Given the description of an element on the screen output the (x, y) to click on. 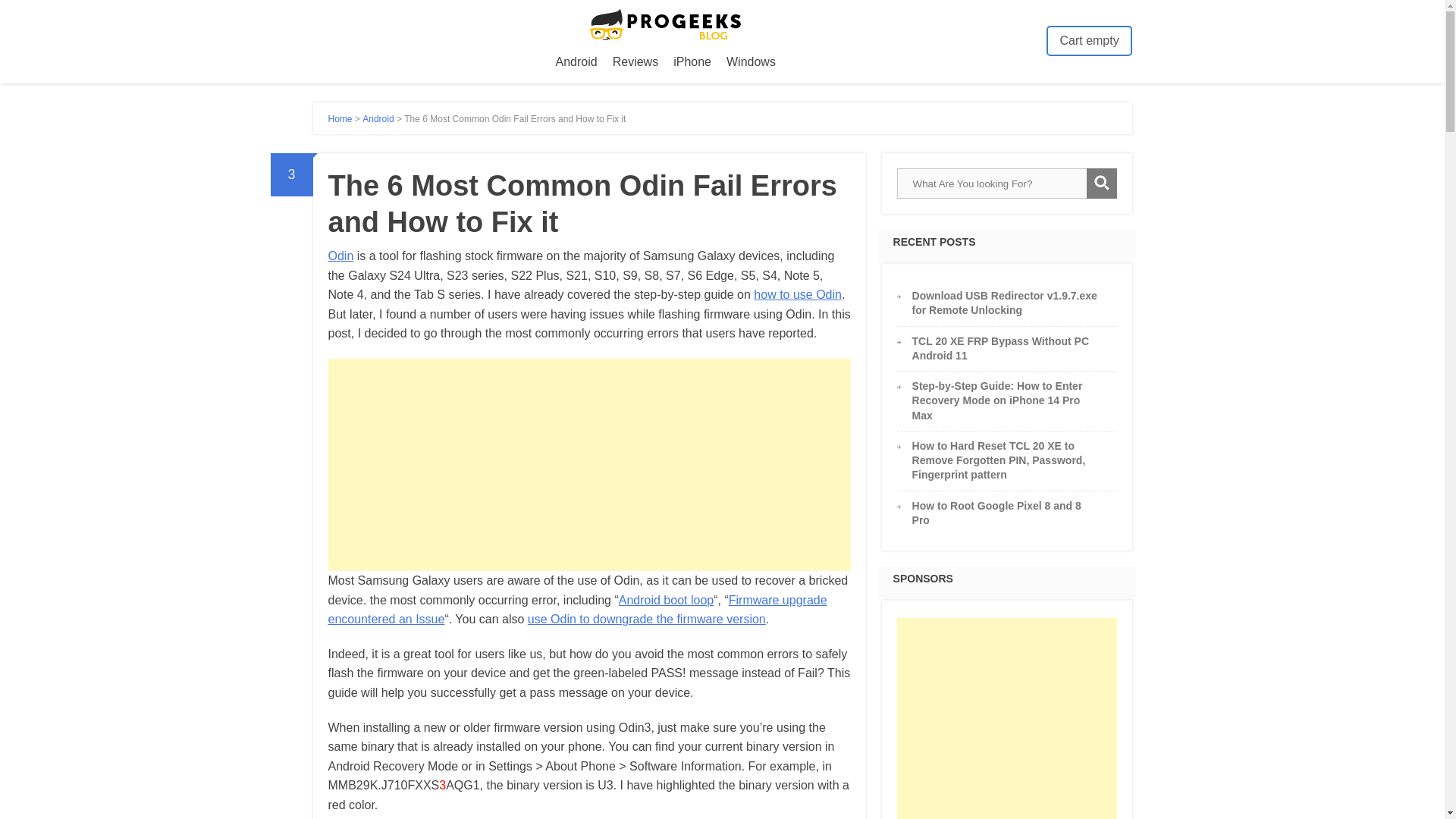
Android (377, 118)
Android (576, 61)
Windows (751, 61)
iPhone (692, 61)
Firmware upgrade encountered an Issue (577, 609)
Cart empty (1088, 40)
how to use Odin (797, 294)
Home (339, 118)
Odin (340, 255)
Reviews (635, 61)
